Given the description of an element on the screen output the (x, y) to click on. 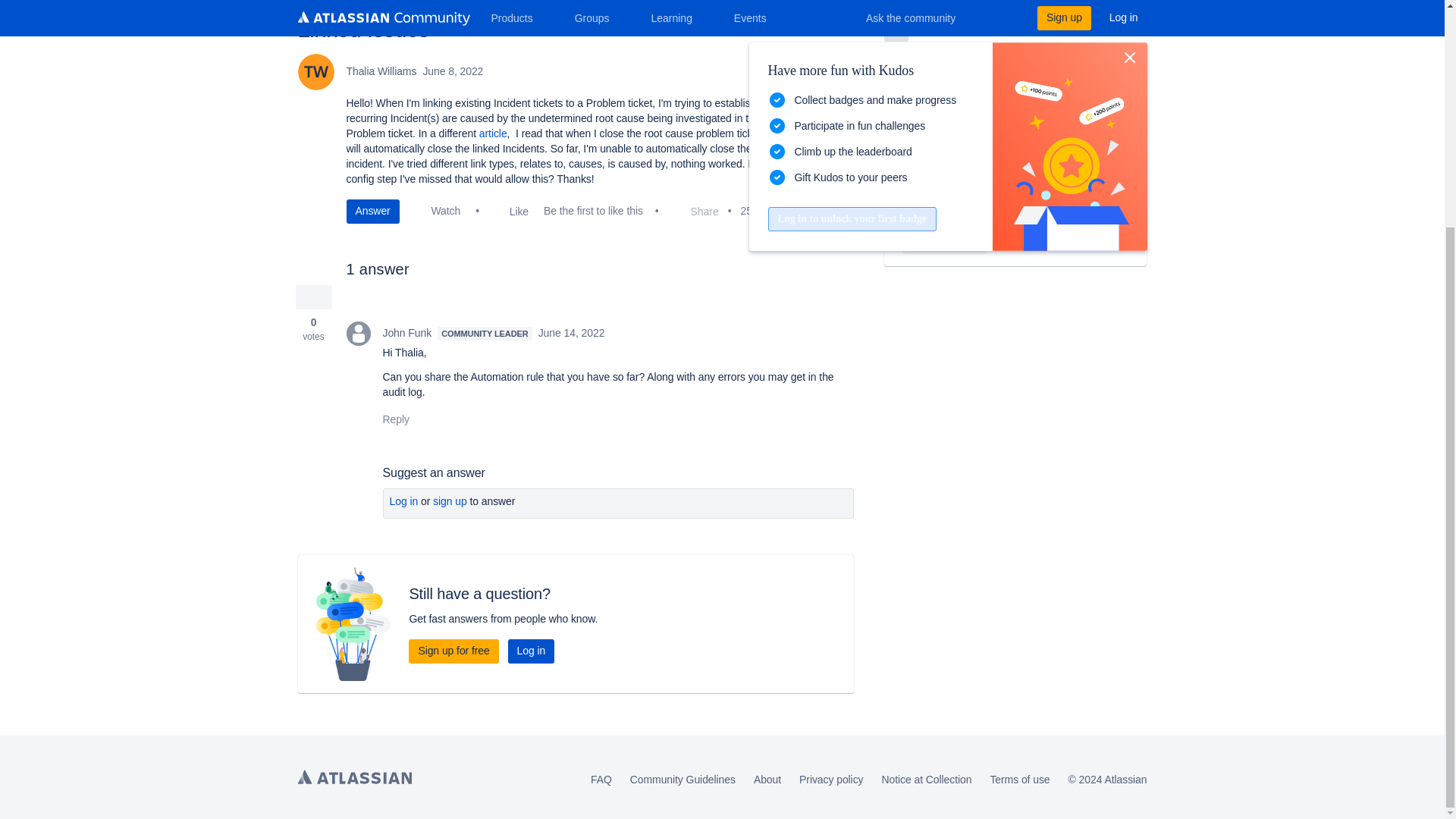
Product apps (895, 29)
Thalia Williams (315, 72)
AUG Leaders (911, 208)
John Funk (357, 333)
